Given the description of an element on the screen output the (x, y) to click on. 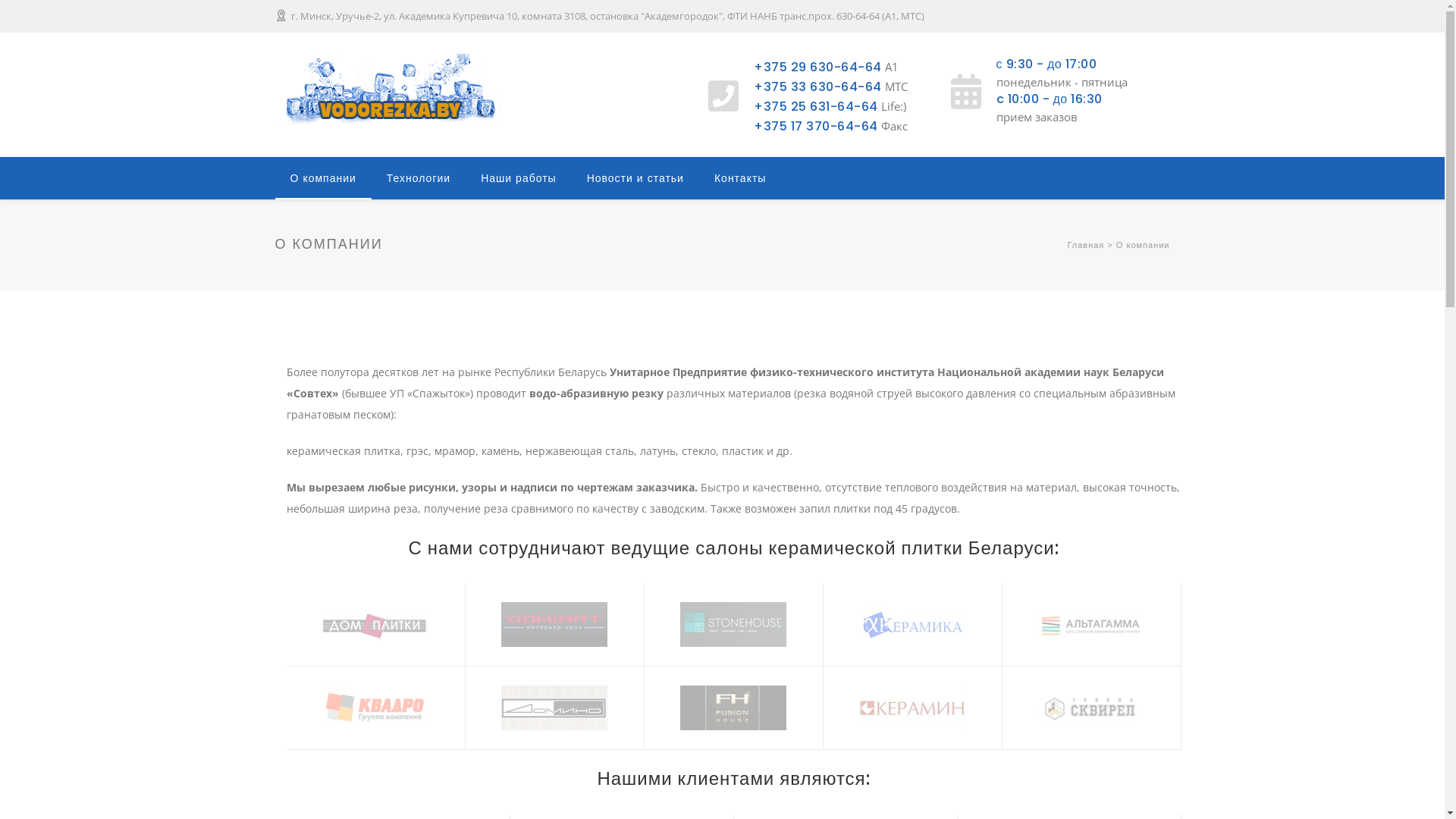
+375 33 630-64-64 Element type: text (817, 86)
+375 17 370-64-64 Element type: text (815, 125)
+375 29 630-64-64 Element type: text (817, 66)
+375 25 631-64-64 Element type: text (815, 106)
